Given the description of an element on the screen output the (x, y) to click on. 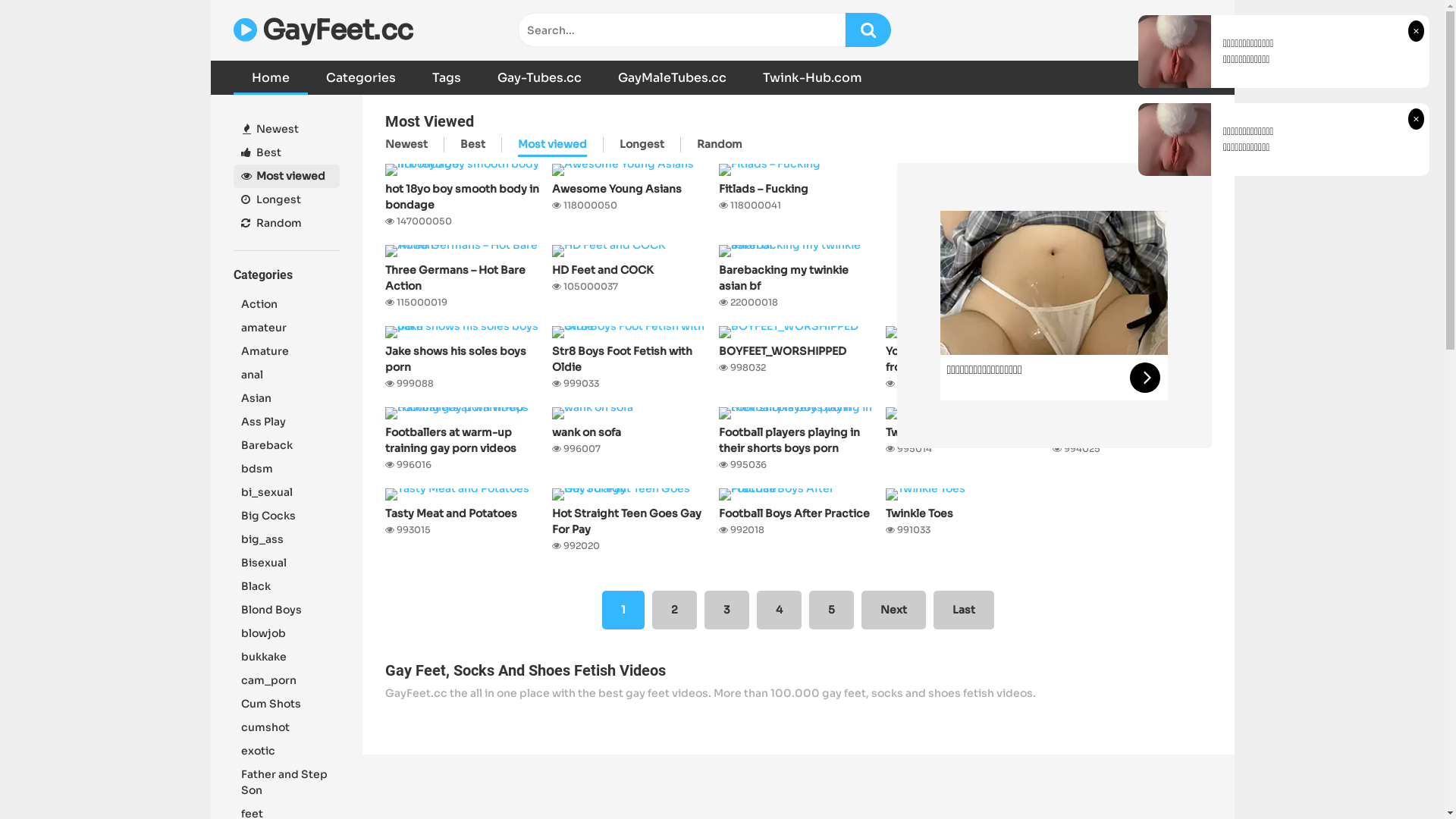
hot 18yo boy smooth body in bondage
147000050 Element type: text (464, 196)
Blond Boys Element type: text (286, 609)
Hot Straight Teen Goes Gay For Pay
992020 Element type: text (631, 520)
Most viewed Element type: text (286, 176)
4 Element type: text (778, 609)
Last Element type: text (963, 609)
Black Element type: text (286, 586)
GayFeet.cc Element type: text (323, 29)
GayMaleTubes.cc Element type: text (671, 77)
Bisexual Element type: text (286, 562)
Jake shows his soles boys porn
999088 Element type: text (464, 358)
Newest Element type: text (286, 129)
Twink-Hub.com Element type: text (812, 77)
Random Element type: text (718, 145)
Best Element type: text (286, 152)
Young slave boy want teach from two dominat men
998020 Element type: text (964, 358)
amateur Element type: text (286, 327)
Categories Element type: text (360, 77)
Action Element type: text (286, 304)
bi_sexual Element type: text (286, 492)
Longest Element type: text (640, 145)
big_ass Element type: text (286, 539)
Football players playing in their shorts boys porn
995036 Element type: text (798, 439)
Tags Element type: text (446, 77)
Twinkle Toes
991033 Element type: text (964, 520)
3 Element type: text (726, 609)
HD Feet and COCK
105000037 Element type: text (631, 277)
bdsm Element type: text (286, 468)
Home Element type: text (270, 77)
Tasty Meat and Potatoes
993015 Element type: text (464, 520)
Next Element type: text (893, 609)
bukkake Element type: text (286, 656)
Random Element type: text (286, 223)
Footballers at warm-up training gay porn videos
996016 Element type: text (464, 439)
wank on sofa
996007 Element type: text (631, 439)
Big Cocks Element type: text (286, 515)
Most viewed Element type: text (551, 146)
blowjob Element type: text (286, 633)
Newest Element type: text (406, 145)
Amature Element type: text (286, 351)
Bareback Element type: text (286, 445)
Gay-Tubes.cc Element type: text (539, 77)
Asian Element type: text (286, 398)
anal Element type: text (286, 374)
Longest Element type: text (286, 199)
BOYFEET_WORSHIPPED
998032 Element type: text (798, 358)
5 Element type: text (831, 609)
exotic Element type: text (286, 750)
Father and Step Son Element type: text (286, 782)
Cum Shots Element type: text (286, 703)
Str8 Boys Foot Fetish with Oldie
999033 Element type: text (631, 358)
Ass Play Element type: text (286, 421)
Twinks in socks
995014 Element type: text (964, 439)
cumshot Element type: text (286, 727)
1 Element type: text (623, 609)
Best Element type: text (471, 145)
Awesome Young Asians
118000050 Element type: text (631, 196)
2 Element type: text (674, 609)
Barebacking my twinkie asian bf
22000018 Element type: text (798, 277)
Football Boys After Practice
992018 Element type: text (798, 520)
cam_porn Element type: text (286, 680)
